Given the description of an element on the screen output the (x, y) to click on. 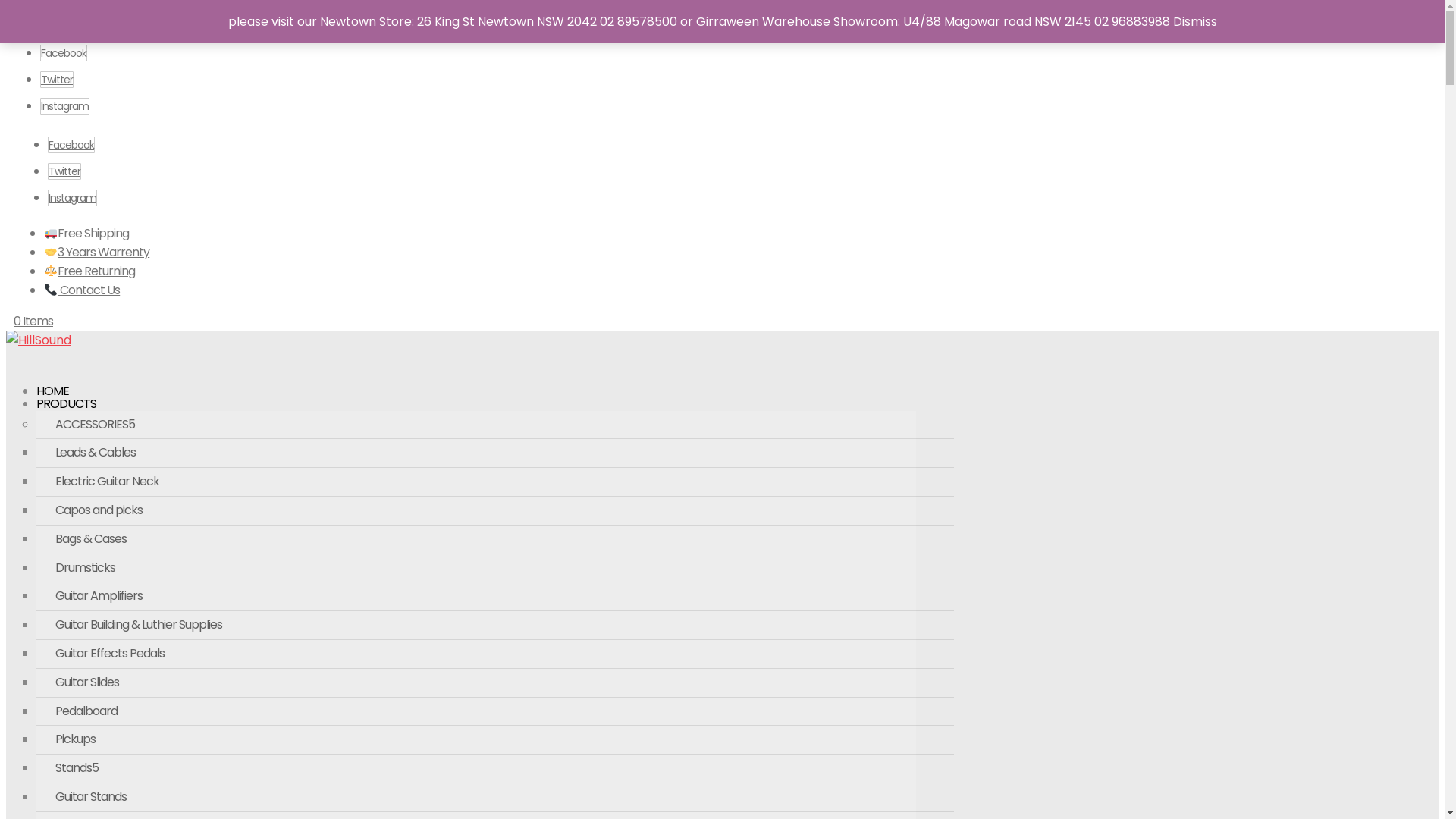
PRODUCTS Element type: text (66, 415)
Instagram Element type: text (72, 197)
Instagram Element type: text (64, 105)
Contact Us Element type: text (81, 289)
Guitar Amplifiers Element type: text (494, 596)
Dismiss Element type: text (1194, 21)
ACCESSORIES Element type: text (494, 425)
Guitar Effects Pedals Element type: text (494, 654)
Pedalboard Element type: text (494, 711)
Guitar Stands Element type: text (494, 797)
HOME Element type: text (52, 402)
3 Years Warrenty Element type: text (96, 251)
Leads & Cables Element type: text (494, 453)
Capos and picks Element type: text (494, 510)
Electric Guitar Neck Element type: text (494, 481)
Bags & Cases Element type: text (494, 539)
0 Items Element type: text (33, 320)
Facebook Element type: text (63, 52)
Guitar Slides Element type: text (494, 682)
mail@hillsound.com.au Element type: text (228, 17)
Stands Element type: text (494, 768)
Facebook Element type: text (70, 144)
Free Shipping Element type: text (85, 232)
Drumsticks Element type: text (494, 568)
Pickups Element type: text (494, 739)
Twitter Element type: text (56, 79)
Guitar Building & Luthier Supplies Element type: text (494, 625)
+61 2 9688 3988 Element type: text (98, 16)
Twitter Element type: text (64, 171)
Free Returning Element type: text (88, 270)
